Given the description of an element on the screen output the (x, y) to click on. 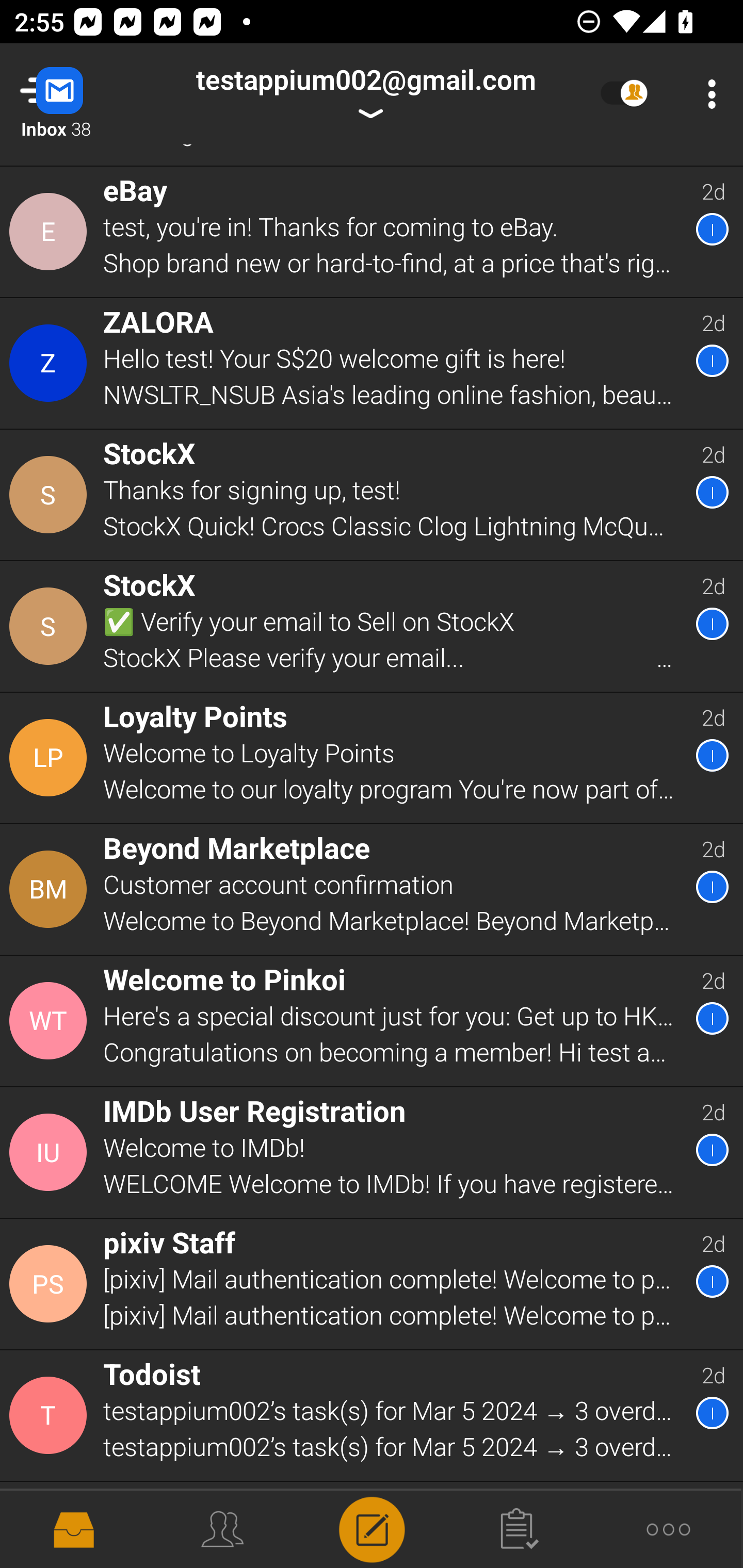
Navigate up (81, 93)
testappium002@gmail.com (365, 93)
More Options (706, 93)
Contact Details (50, 231)
Contact Details (50, 362)
Contact Details (50, 494)
Contact Details (50, 626)
Contact Details (50, 758)
Contact Details (50, 889)
Contact Details (50, 1021)
Contact Details (50, 1152)
Contact Details (50, 1284)
Contact Details (50, 1415)
Compose (371, 1528)
